Given the description of an element on the screen output the (x, y) to click on. 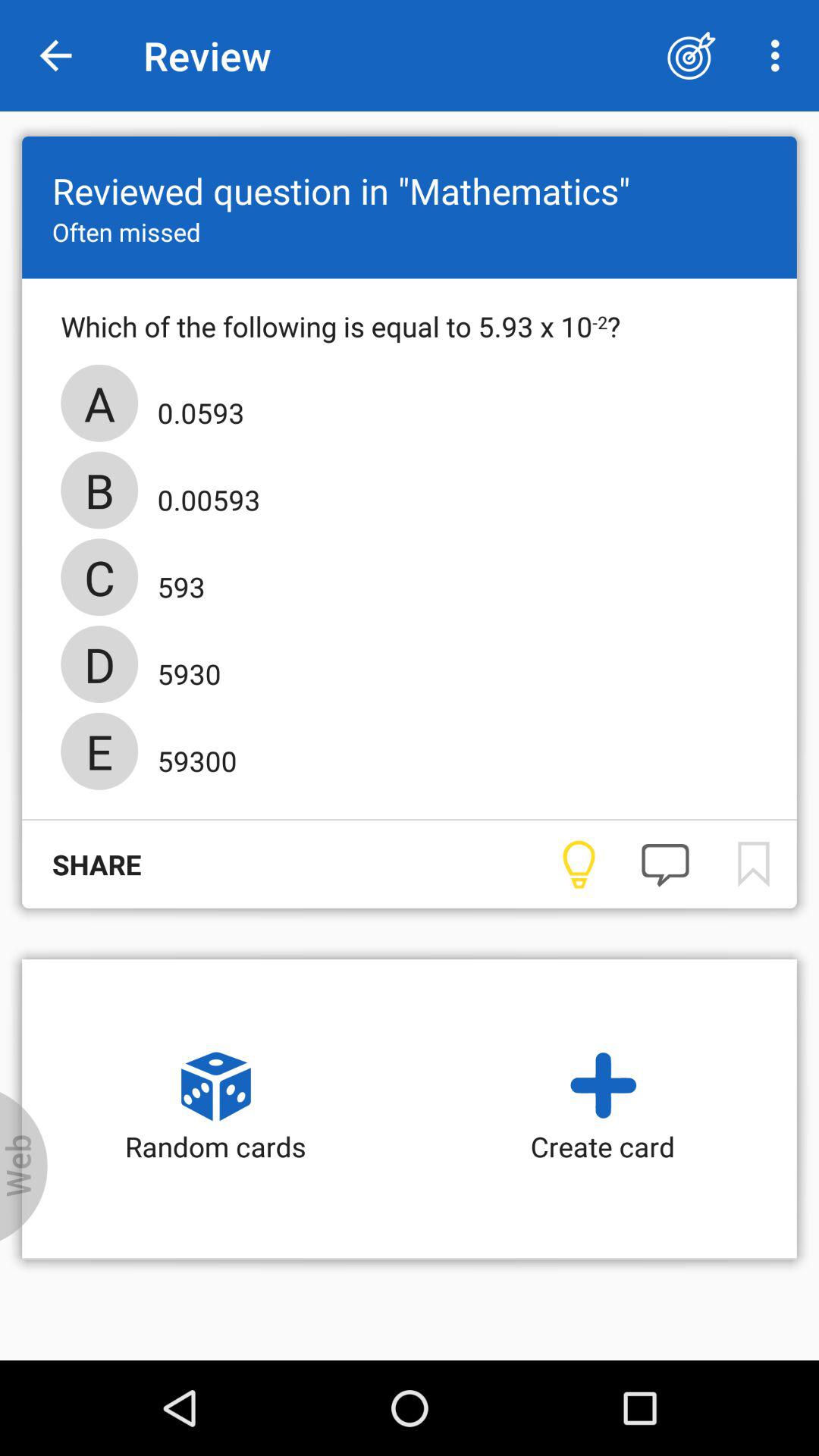
open sidebar (23, 1166)
